Given the description of an element on the screen output the (x, y) to click on. 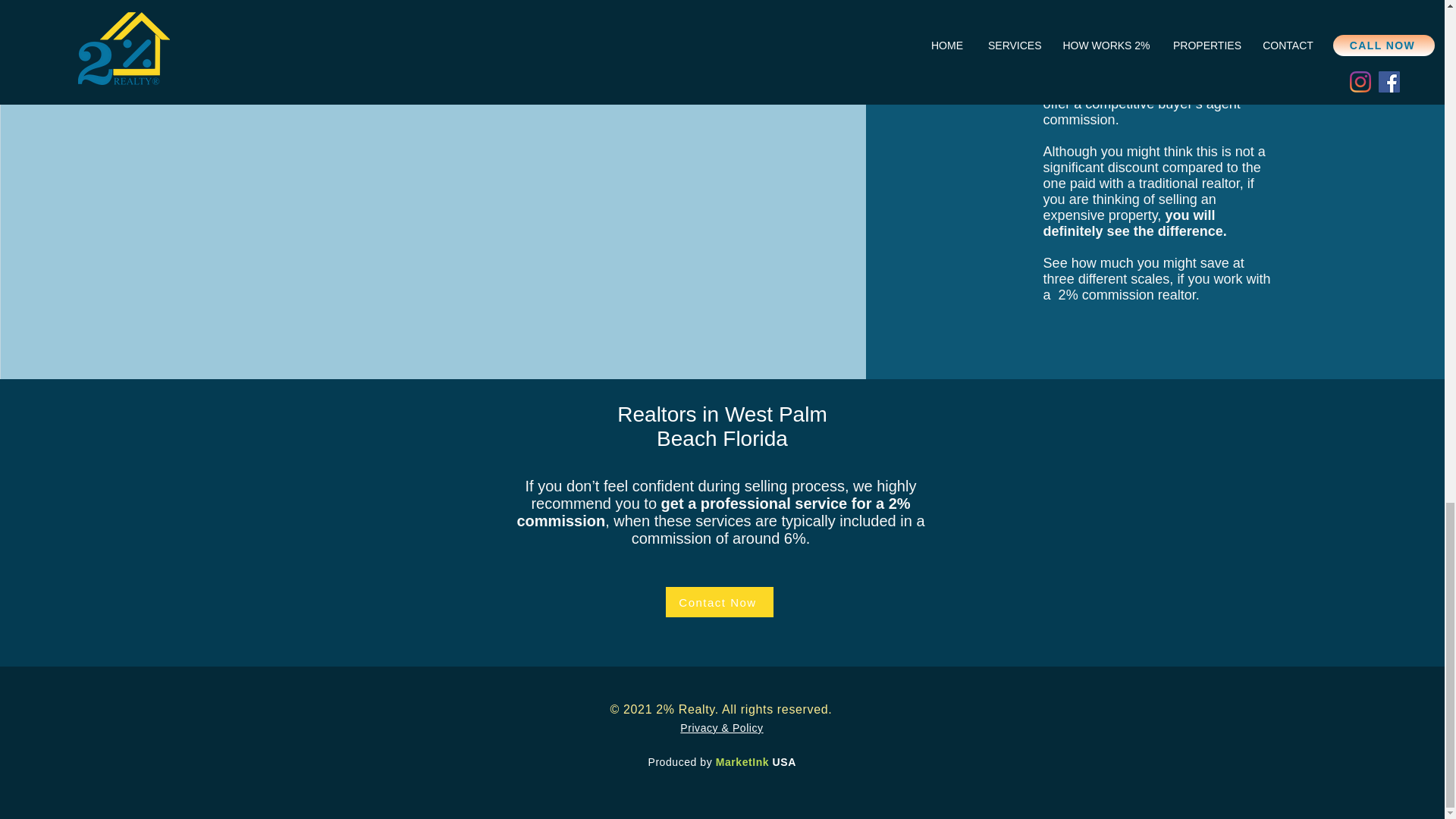
MarketInk (744, 761)
Contact Now (719, 602)
Produced by (680, 761)
USA (784, 761)
